Given the description of an element on the screen output the (x, y) to click on. 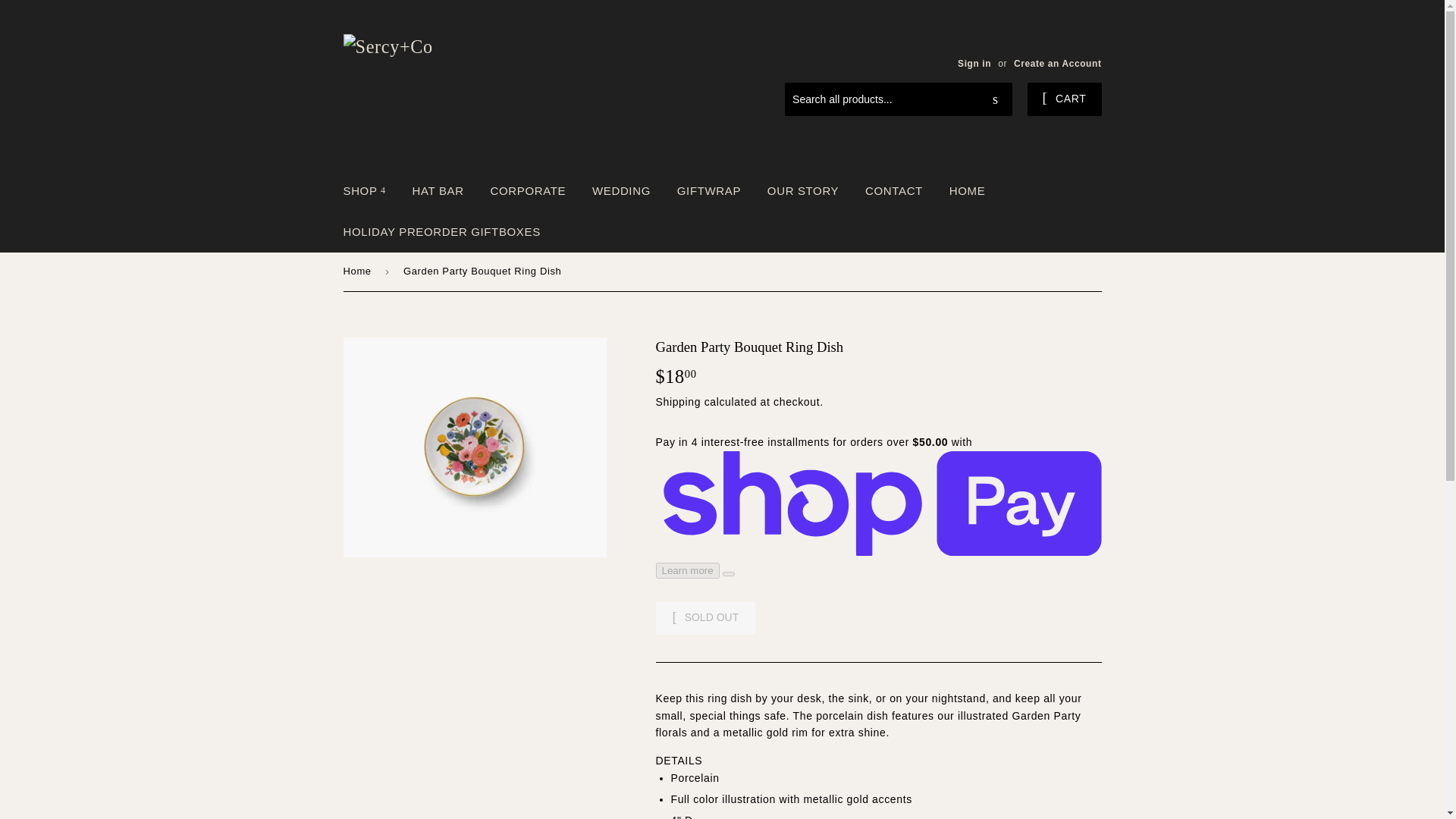
WEDDING (621, 190)
Create an Account (1057, 63)
OUR STORY (802, 190)
HAT BAR (438, 190)
CORPORATE (527, 190)
CART (1064, 99)
GIFTWRAP (708, 190)
Sign in (974, 63)
Search (994, 100)
SHOP (364, 190)
